Given the description of an element on the screen output the (x, y) to click on. 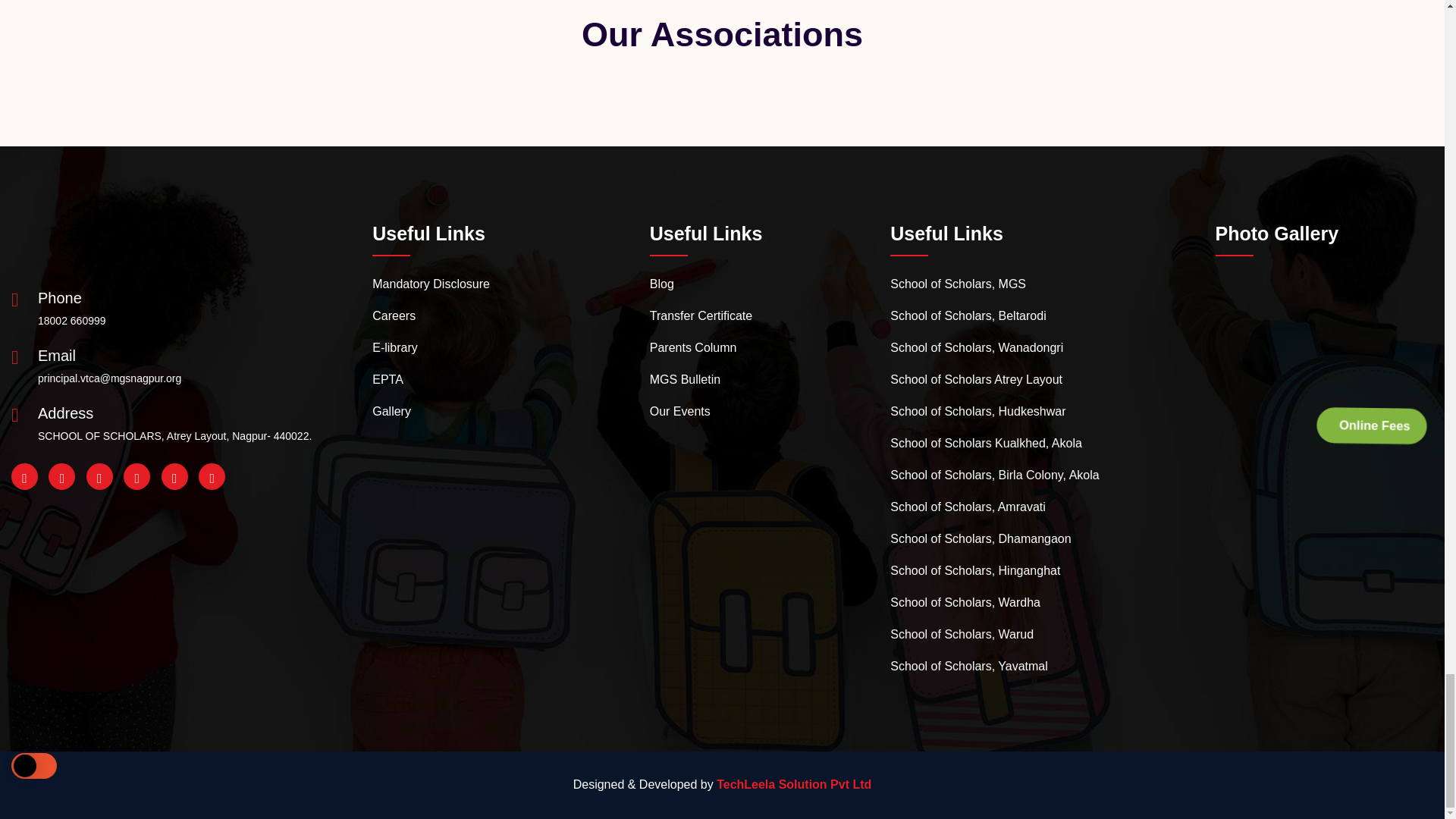
E-library (394, 348)
18002 660999 (71, 320)
Careers (393, 316)
Mandatory Disclosure (430, 284)
